Given the description of an element on the screen output the (x, y) to click on. 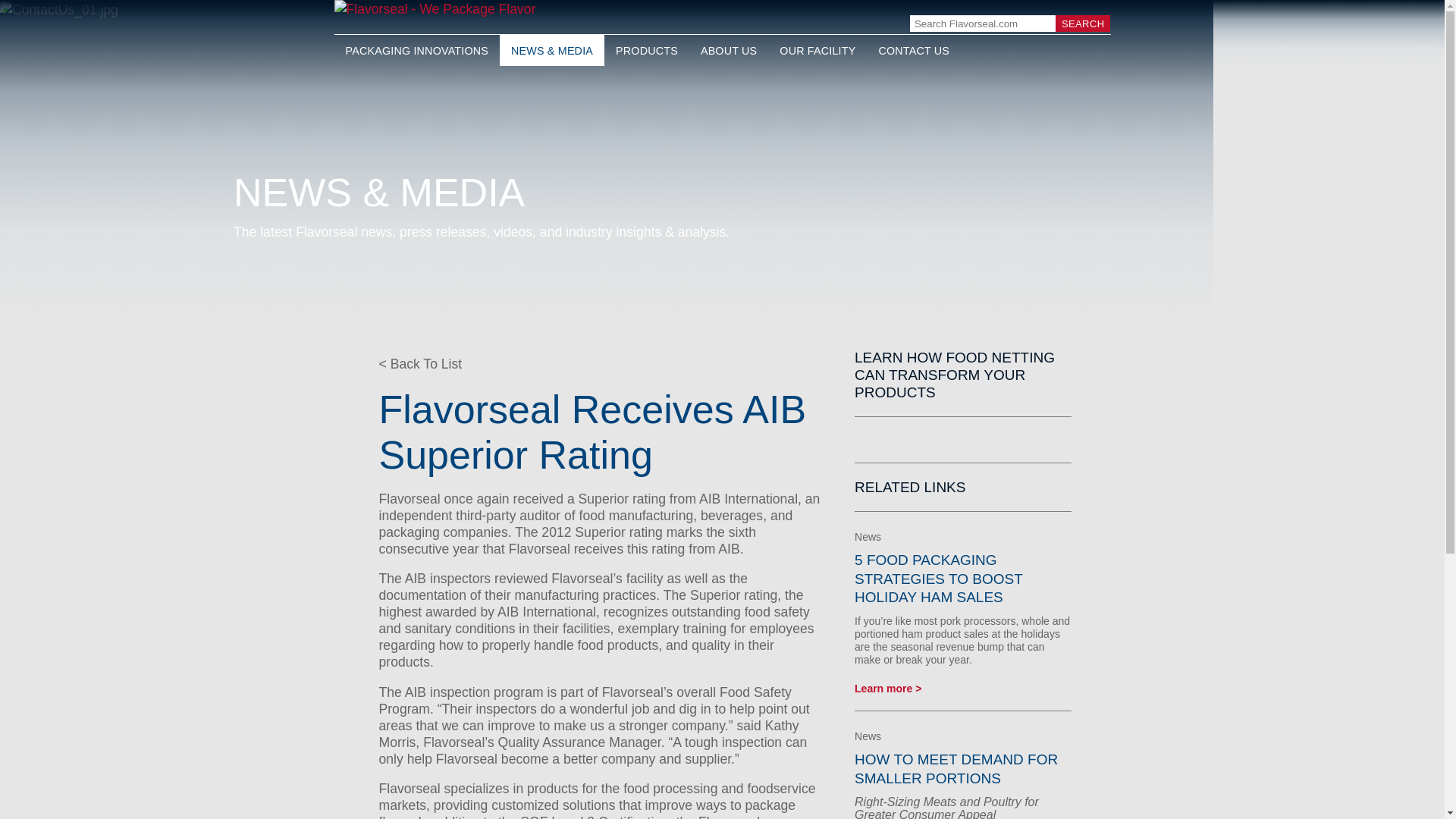
PACKAGING INNOVATIONS (416, 50)
PRODUCTS (646, 50)
CONTACT US (913, 50)
Search (1082, 23)
OUR FACILITY (817, 50)
Search (1082, 23)
ABOUT US (728, 50)
